Given the description of an element on the screen output the (x, y) to click on. 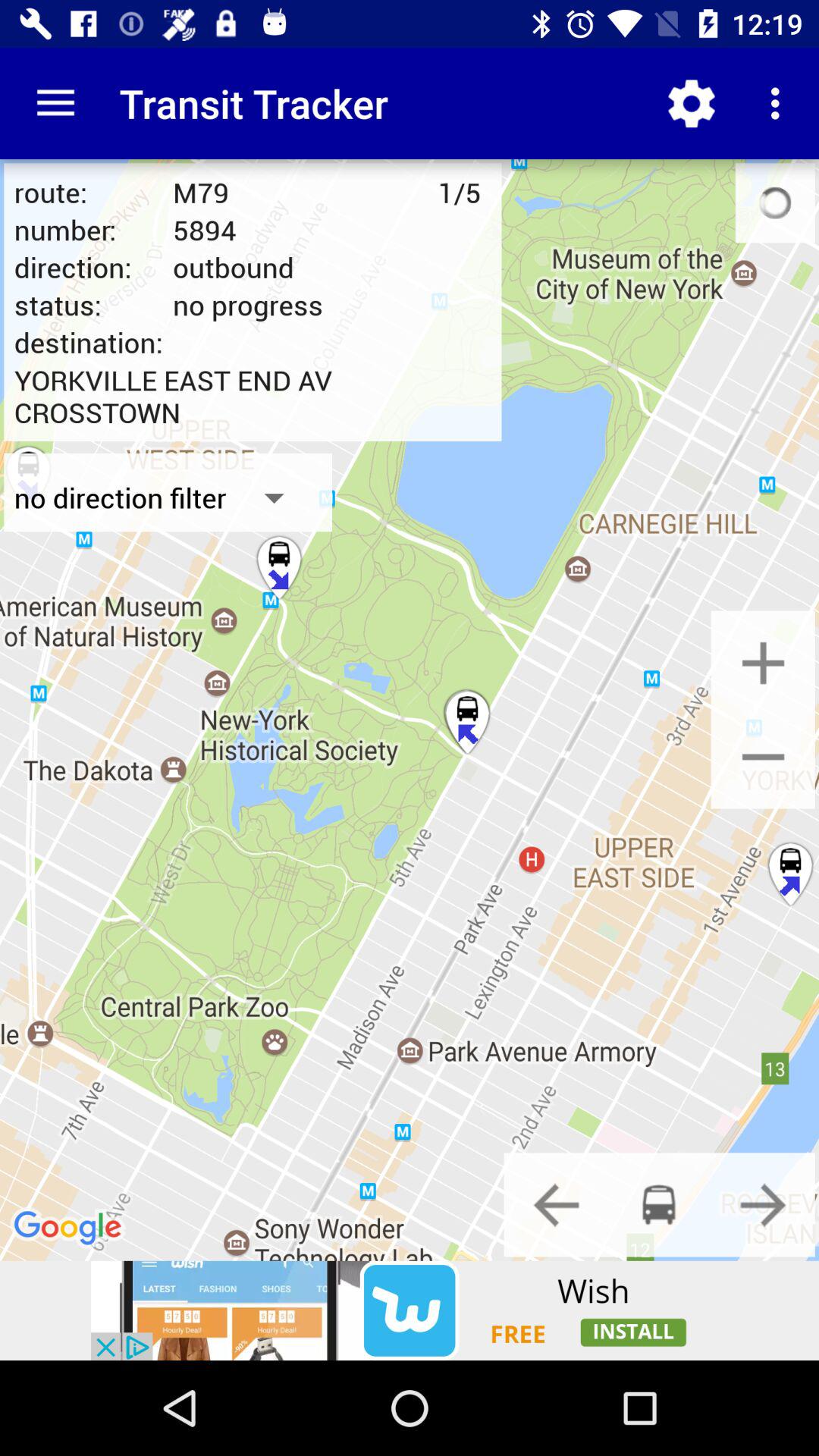
zoom out (762, 756)
